Given the description of an element on the screen output the (x, y) to click on. 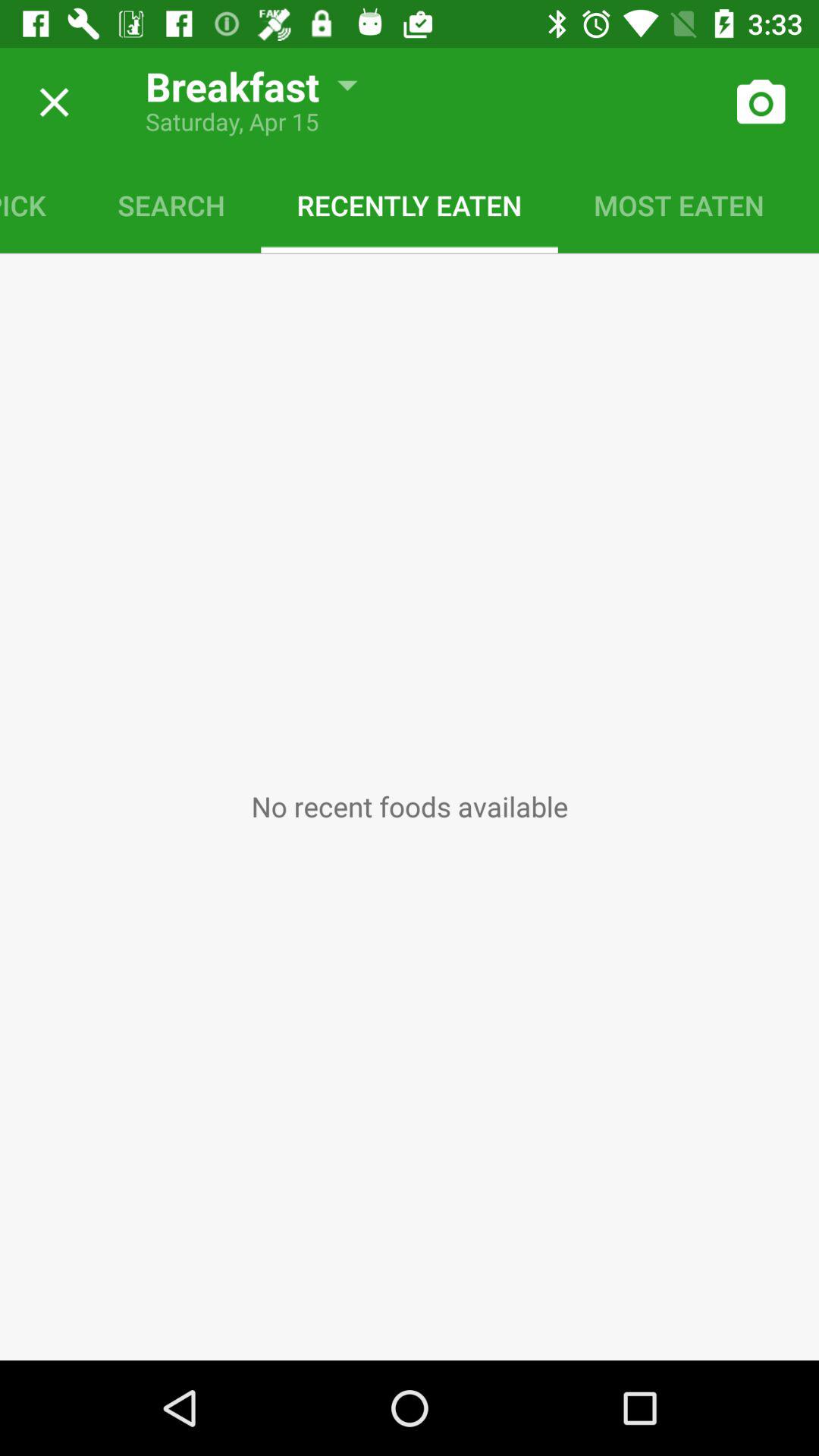
flip to most eaten (678, 205)
